Given the description of an element on the screen output the (x, y) to click on. 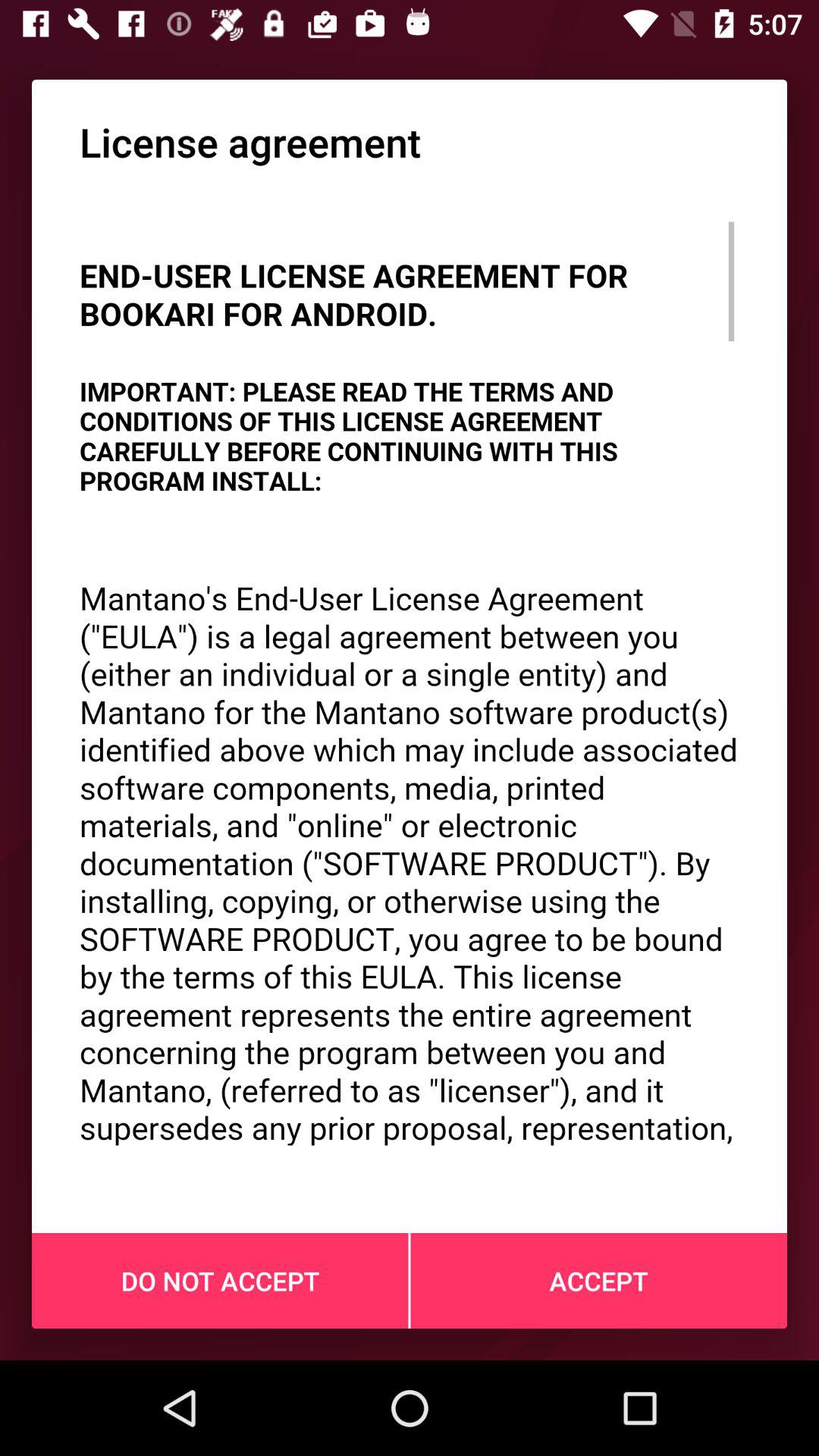
press do not accept at the bottom left corner (219, 1280)
